Given the description of an element on the screen output the (x, y) to click on. 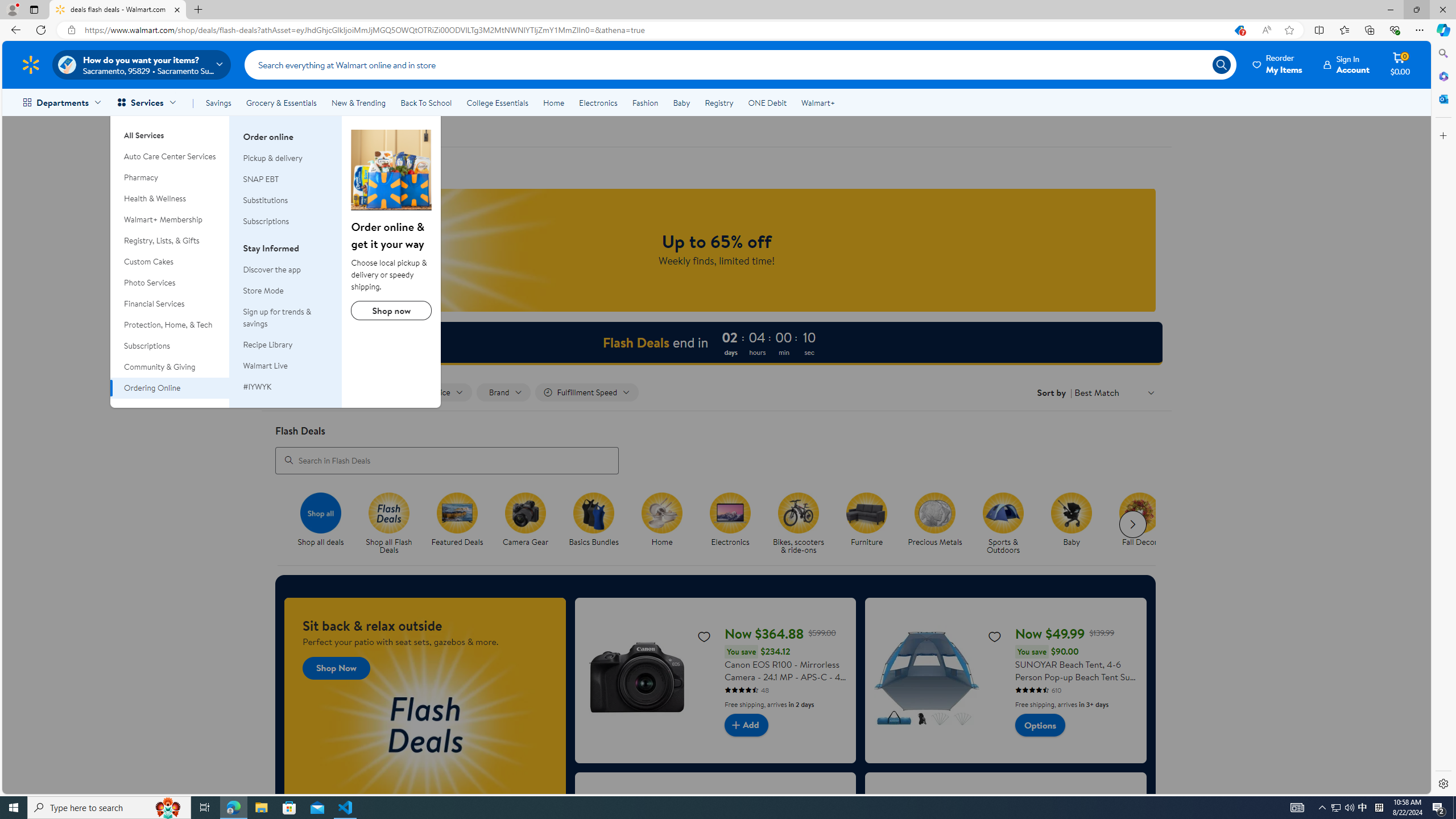
SNAP EBT (286, 179)
New & Trending (358, 102)
College Essentials (496, 102)
This site has coupons! Shopping in Microsoft Edge, 7 (1239, 29)
Discover the app (286, 269)
Custom Cakes (170, 261)
Back To School (425, 102)
Featured Deals (462, 524)
ONE Debit (767, 102)
